Given the description of an element on the screen output the (x, y) to click on. 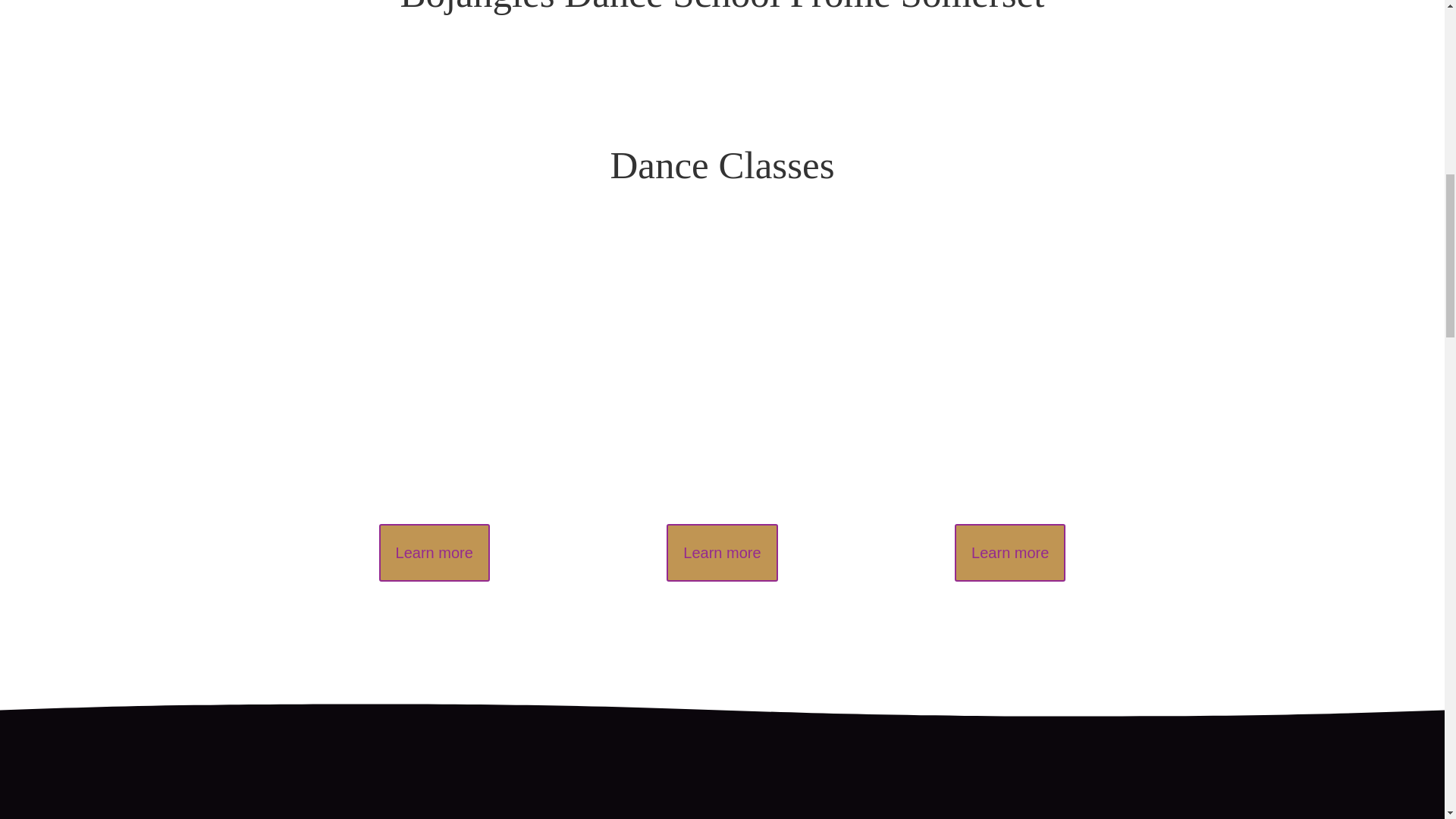
Learn more (721, 552)
Learn more (433, 552)
Learn more (1010, 552)
